Given the description of an element on the screen output the (x, y) to click on. 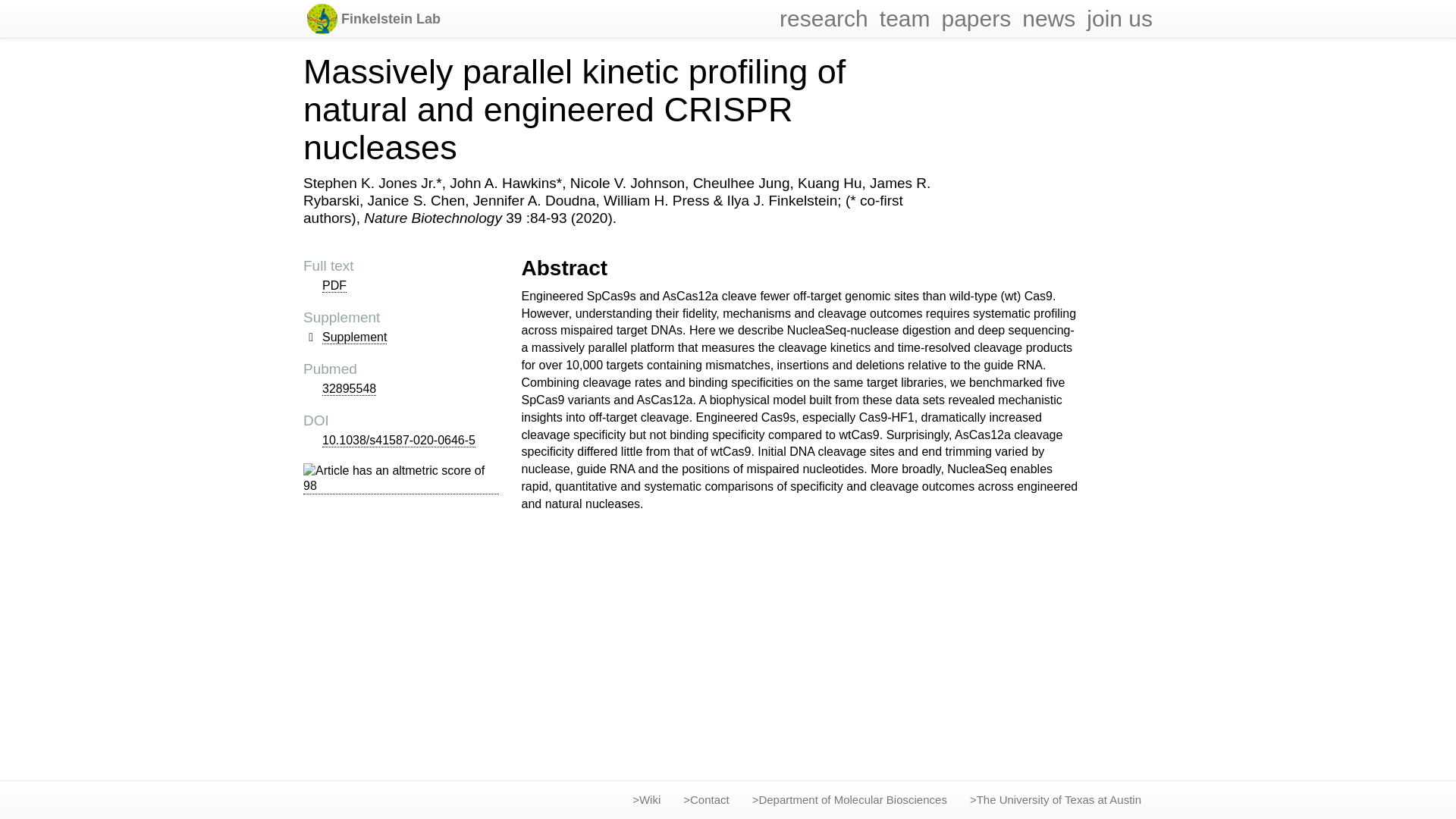
team (904, 18)
Supplement (354, 336)
news (1048, 18)
papers (976, 18)
PDF (333, 285)
join us (1119, 18)
Finkelstein Lab (390, 18)
research (823, 18)
32895548 (348, 388)
